Given the description of an element on the screen output the (x, y) to click on. 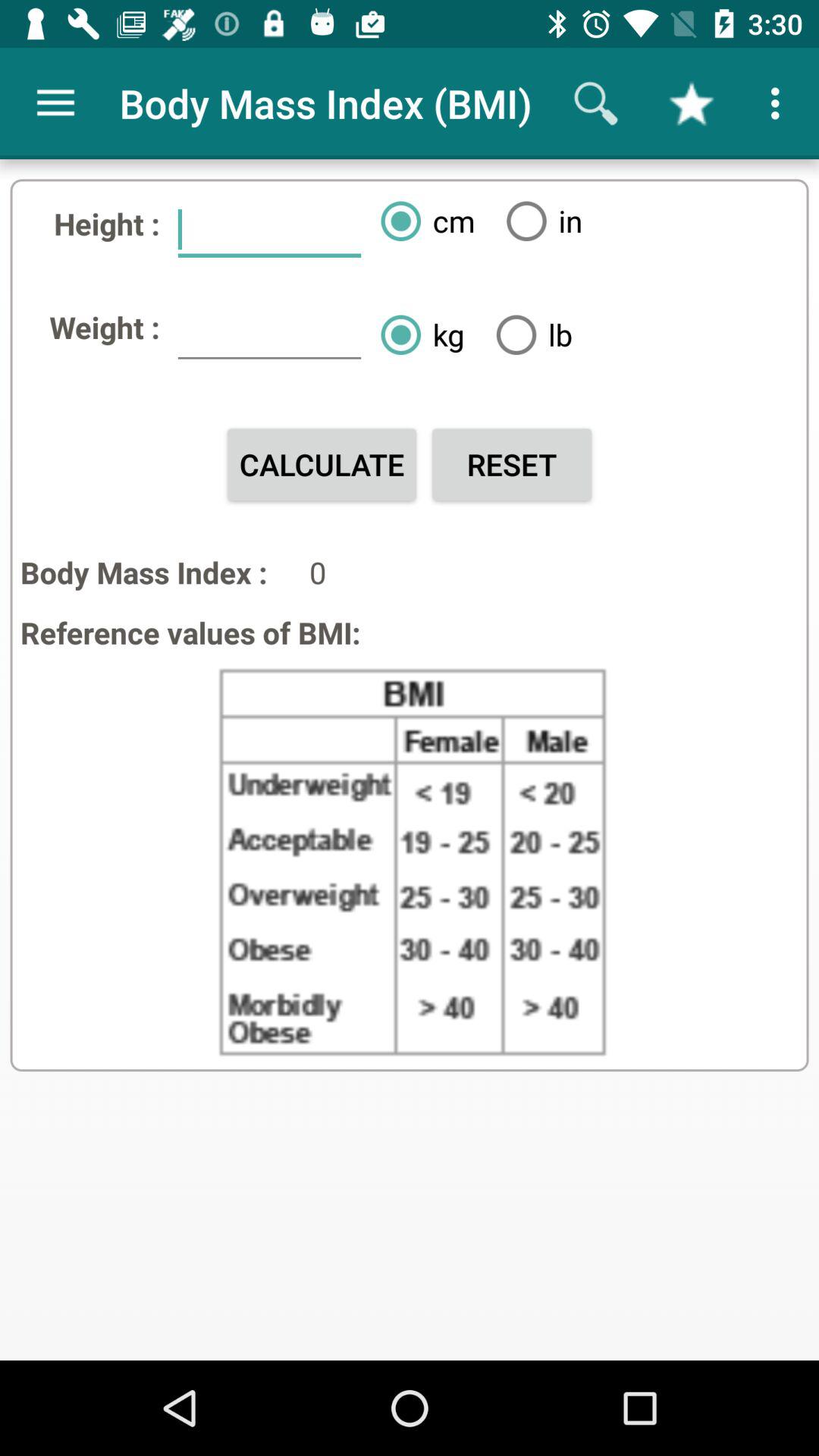
tap item next to the calculate (511, 464)
